Given the description of an element on the screen output the (x, y) to click on. 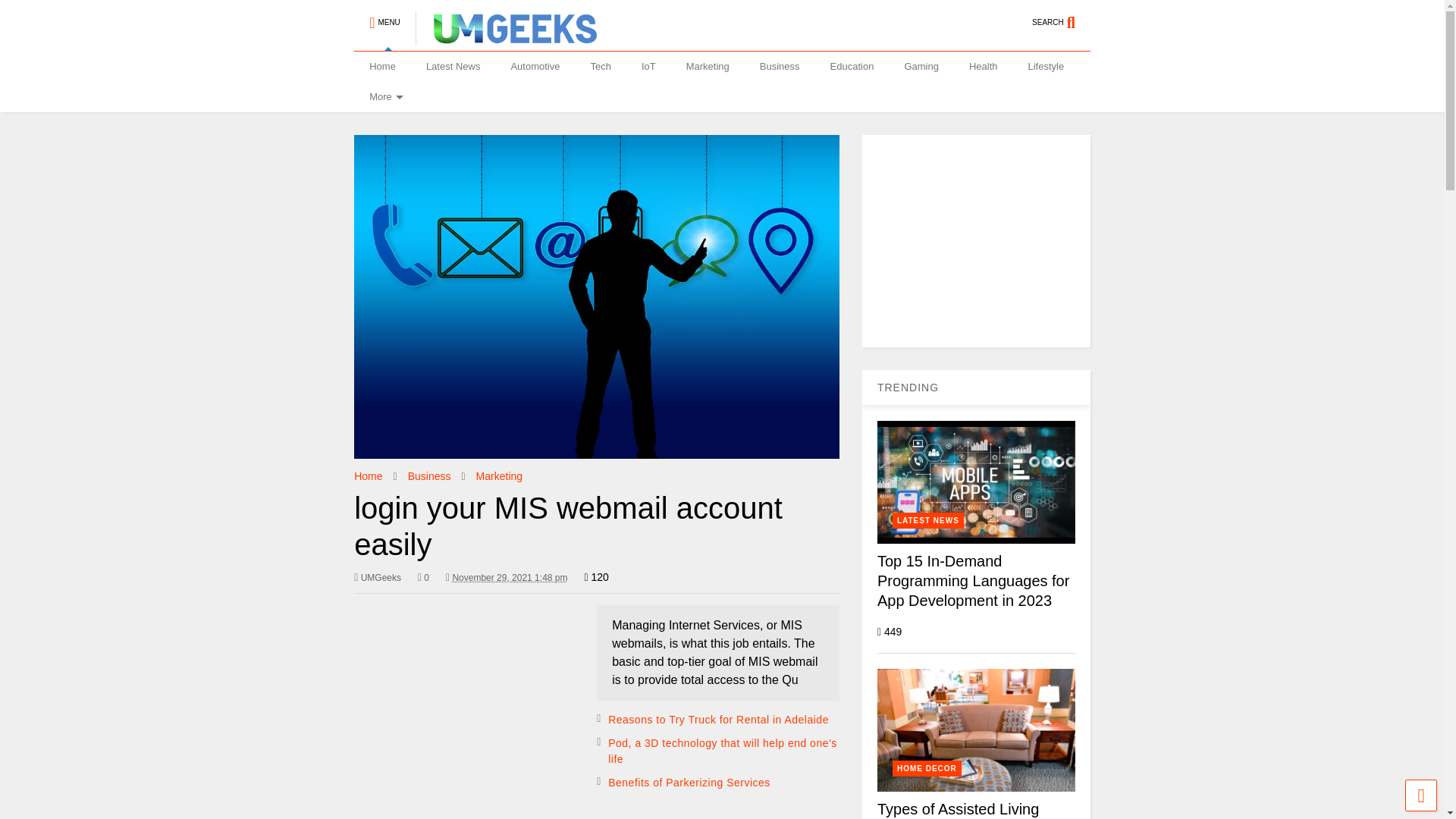
Latest News (453, 66)
Home (381, 66)
November 29, 2021 1:48 pm (509, 577)
Marketing (707, 66)
Business (779, 66)
More (383, 96)
MENU (383, 15)
Marketing (499, 476)
Benefits of Parkerizing Services (689, 782)
Health (983, 66)
Reasons to Try Truck for Rental in Adelaide (718, 719)
SEARCH (1061, 15)
Lifestyle (1046, 66)
Advertisement (466, 712)
